Given the description of an element on the screen output the (x, y) to click on. 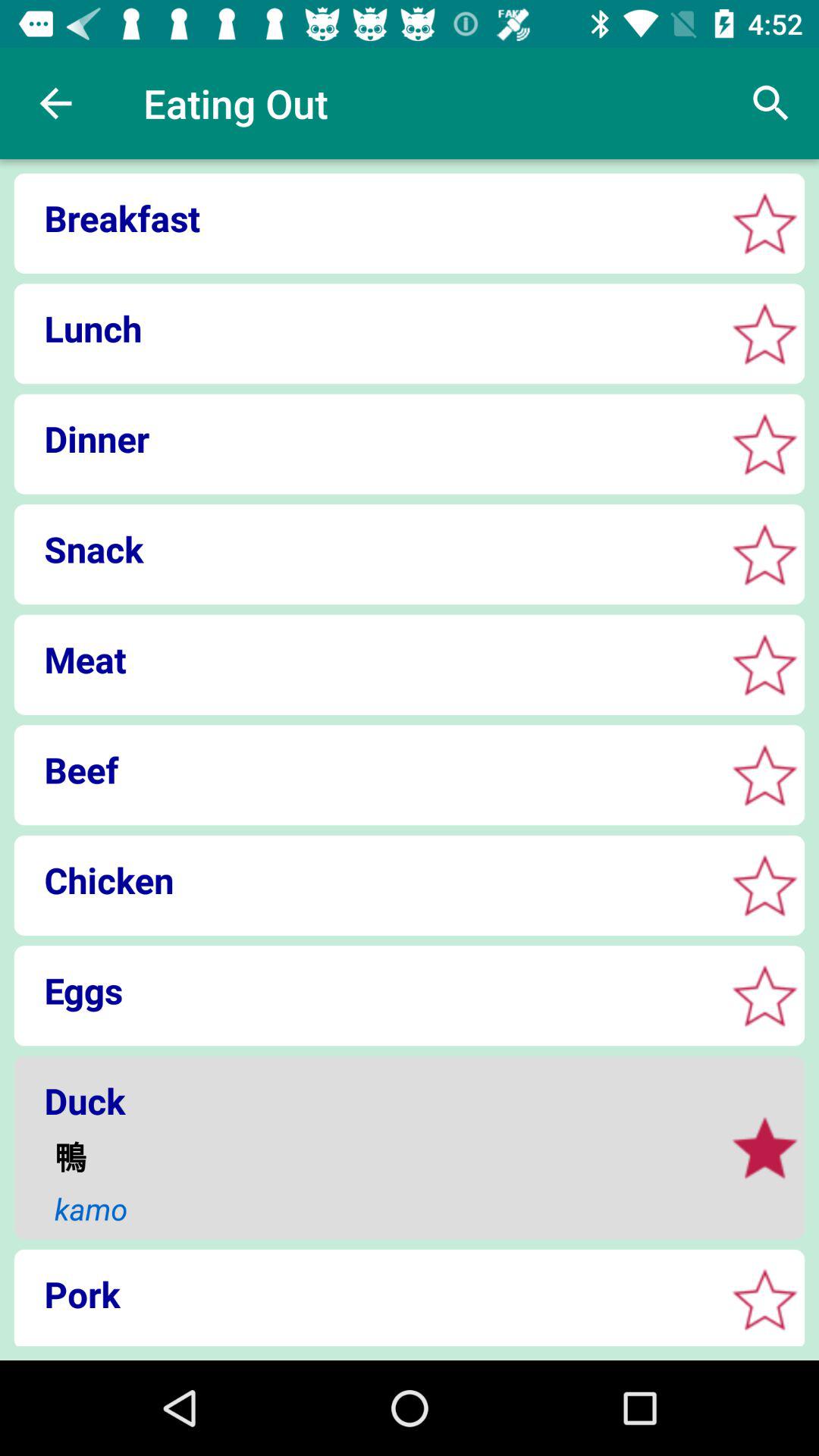
click favorite (764, 885)
